Given the description of an element on the screen output the (x, y) to click on. 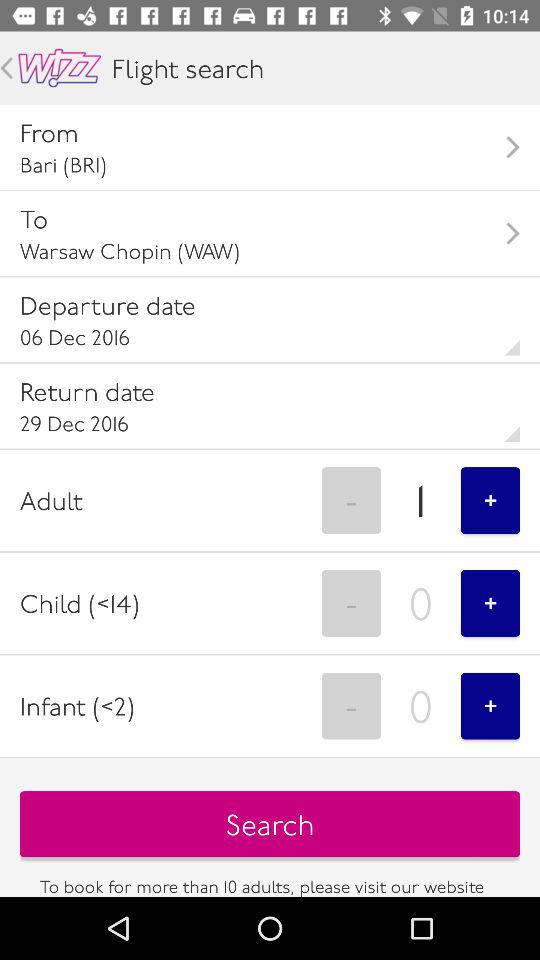
turn off icon to the right of 0 (490, 603)
